Given the description of an element on the screen output the (x, y) to click on. 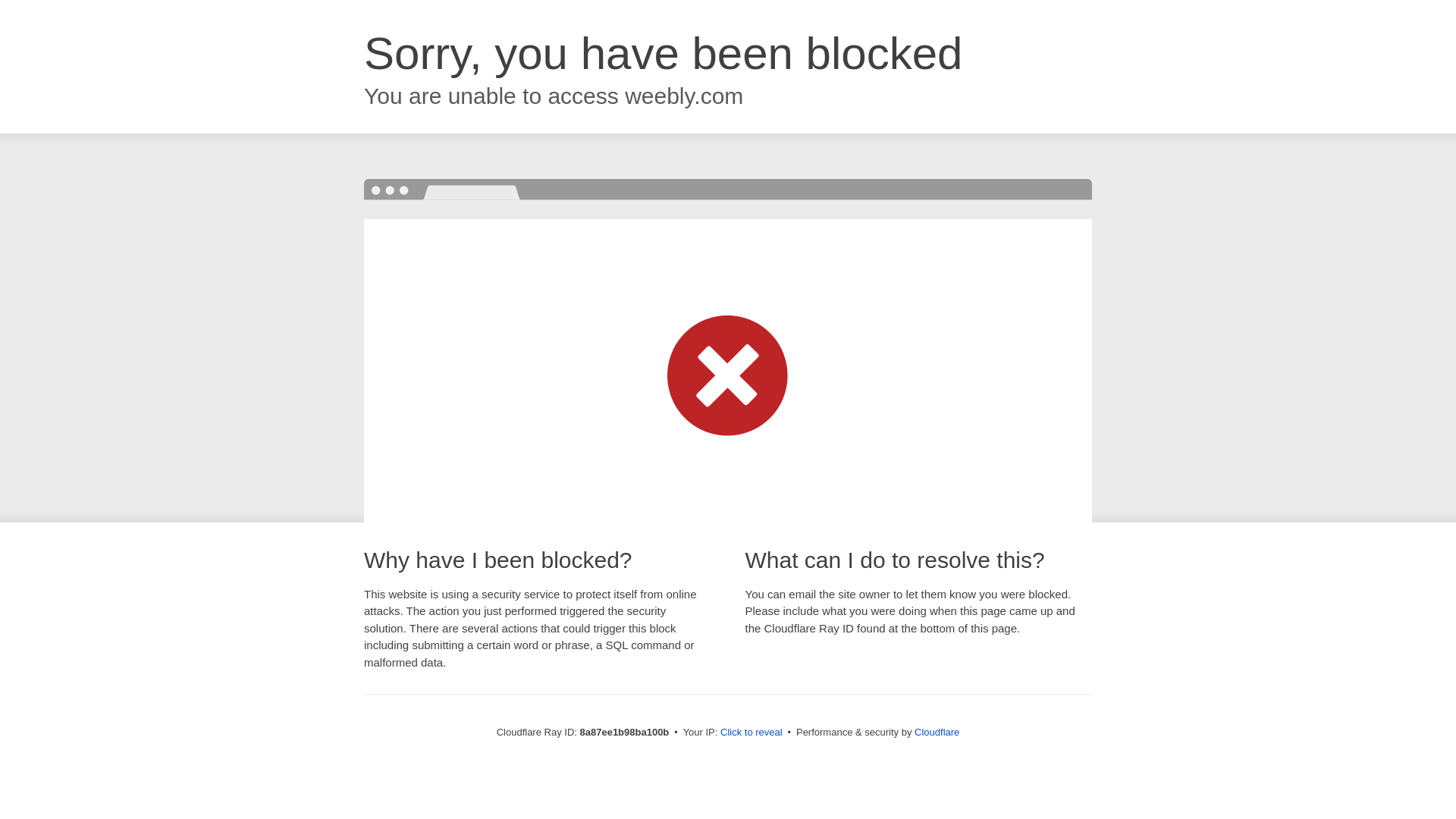
Cloudflare (936, 731)
Click to reveal (751, 732)
